Given the description of an element on the screen output the (x, y) to click on. 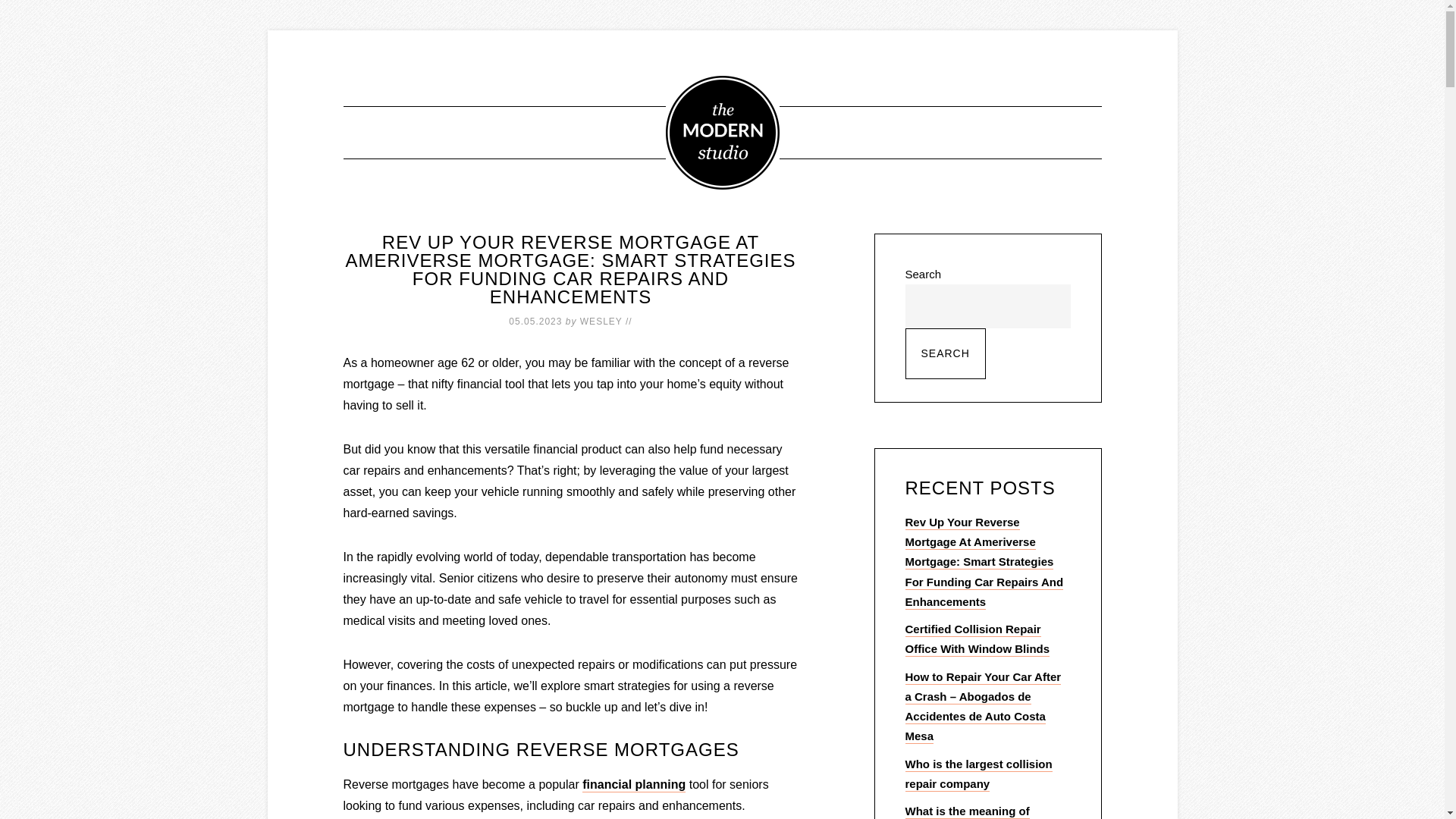
WESLEY Element type: text (601, 321)
financial planning Element type: text (633, 785)
1ST CERTIFIED COLLISION Element type: text (722, 132)
Who is the largest collision repair company Element type: text (978, 773)
SEARCH Element type: text (945, 353)
Certified Collision Repair Office With Window Blinds Element type: text (977, 639)
